Given the description of an element on the screen output the (x, y) to click on. 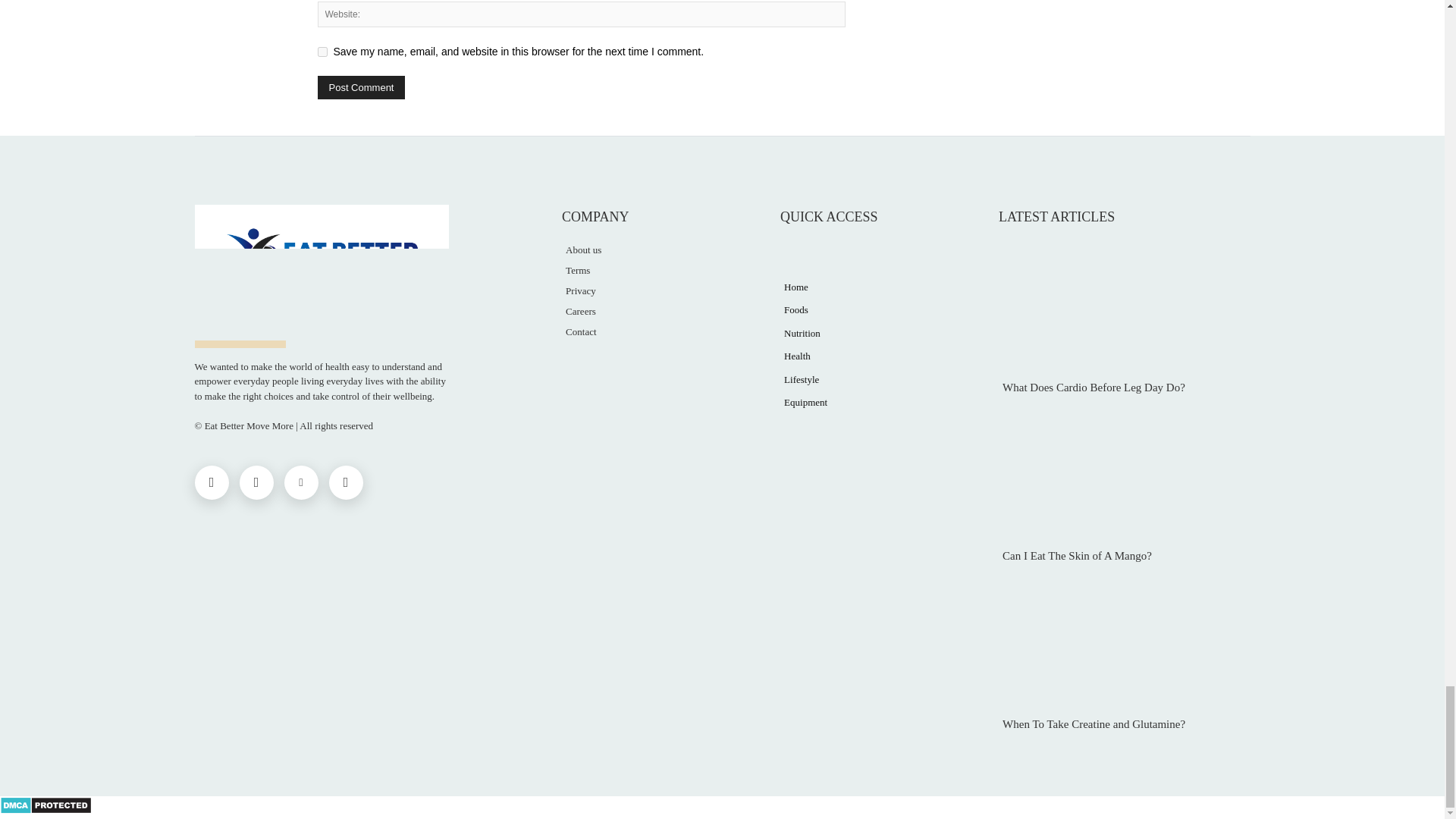
yes (321, 51)
Post Comment (360, 87)
